Given the description of an element on the screen output the (x, y) to click on. 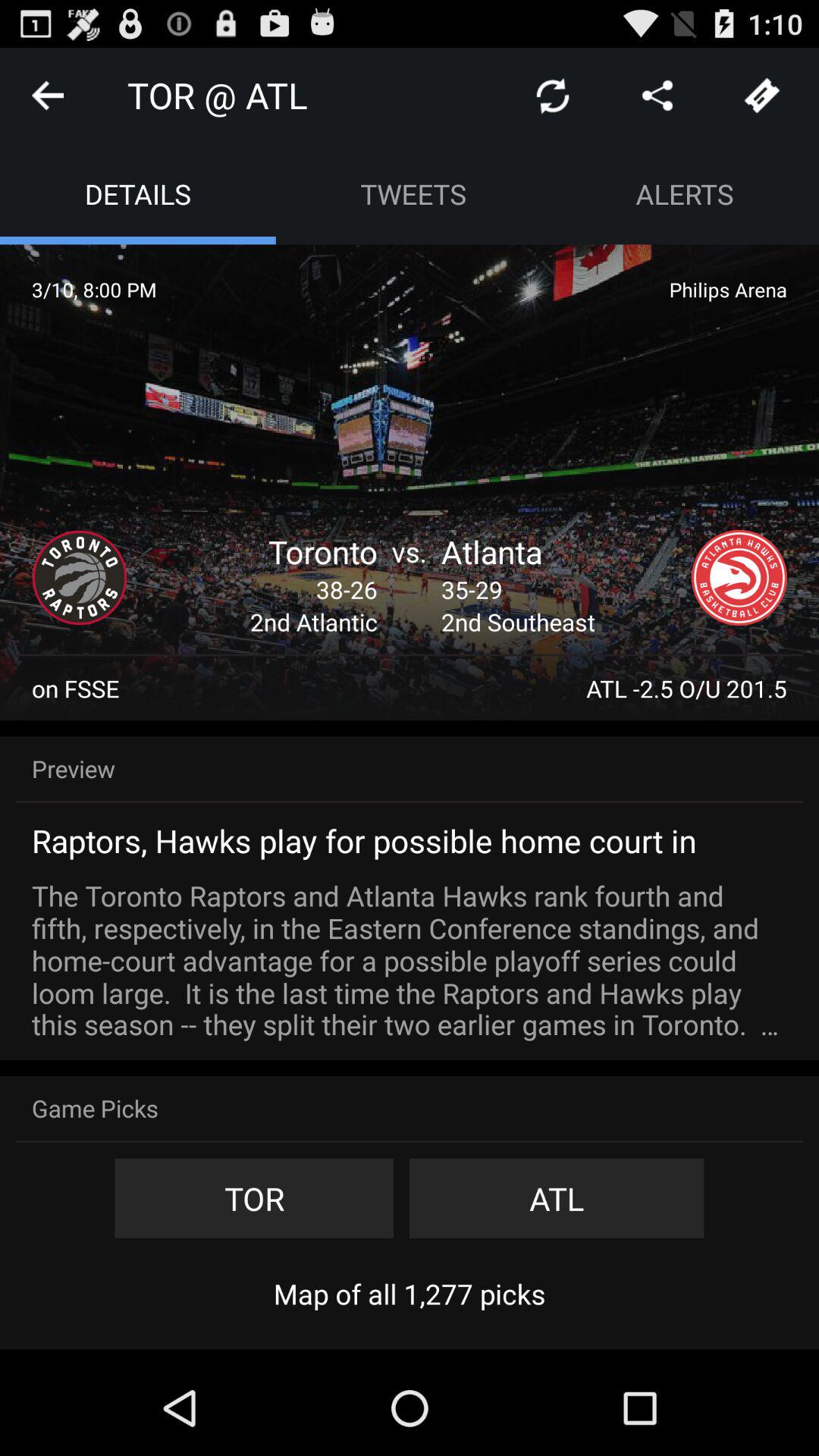
tap item next to the details item (413, 193)
